Given the description of an element on the screen output the (x, y) to click on. 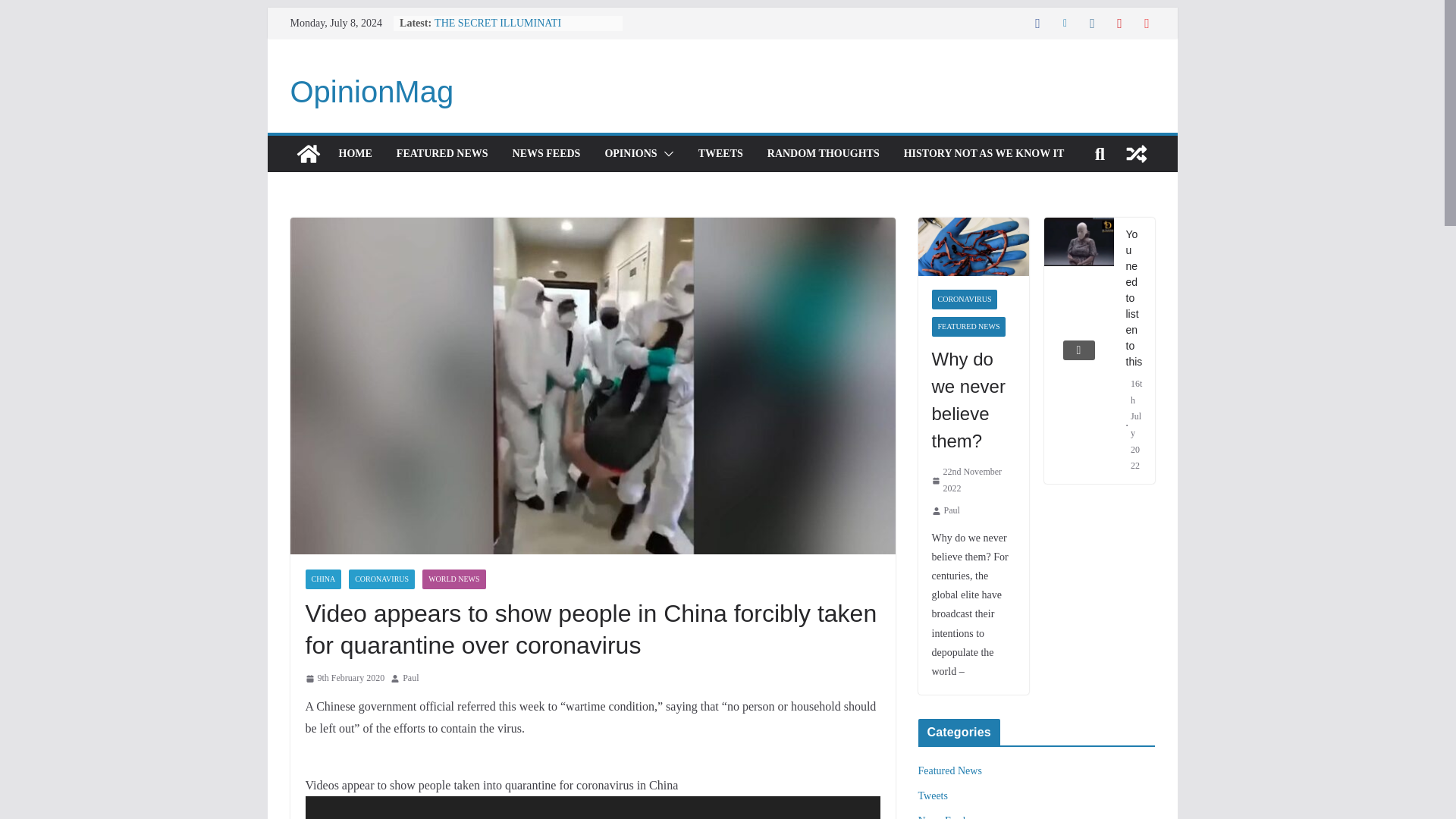
Paul (411, 678)
THE SECRET ILLUMINATI COVENANT: (496, 30)
RANDOM THOUGHTS (823, 153)
WORLD NEWS (454, 578)
CHINA (322, 578)
TWEETS (720, 153)
Paul (411, 678)
OpinionMag (370, 91)
HISTORY NOT AS WE KNOW IT (984, 153)
OpinionMag (370, 91)
CORONAVIRUS (381, 578)
OpinionMag (307, 153)
NEWS FEEDS (546, 153)
8:20 pm (344, 678)
